Given the description of an element on the screen output the (x, y) to click on. 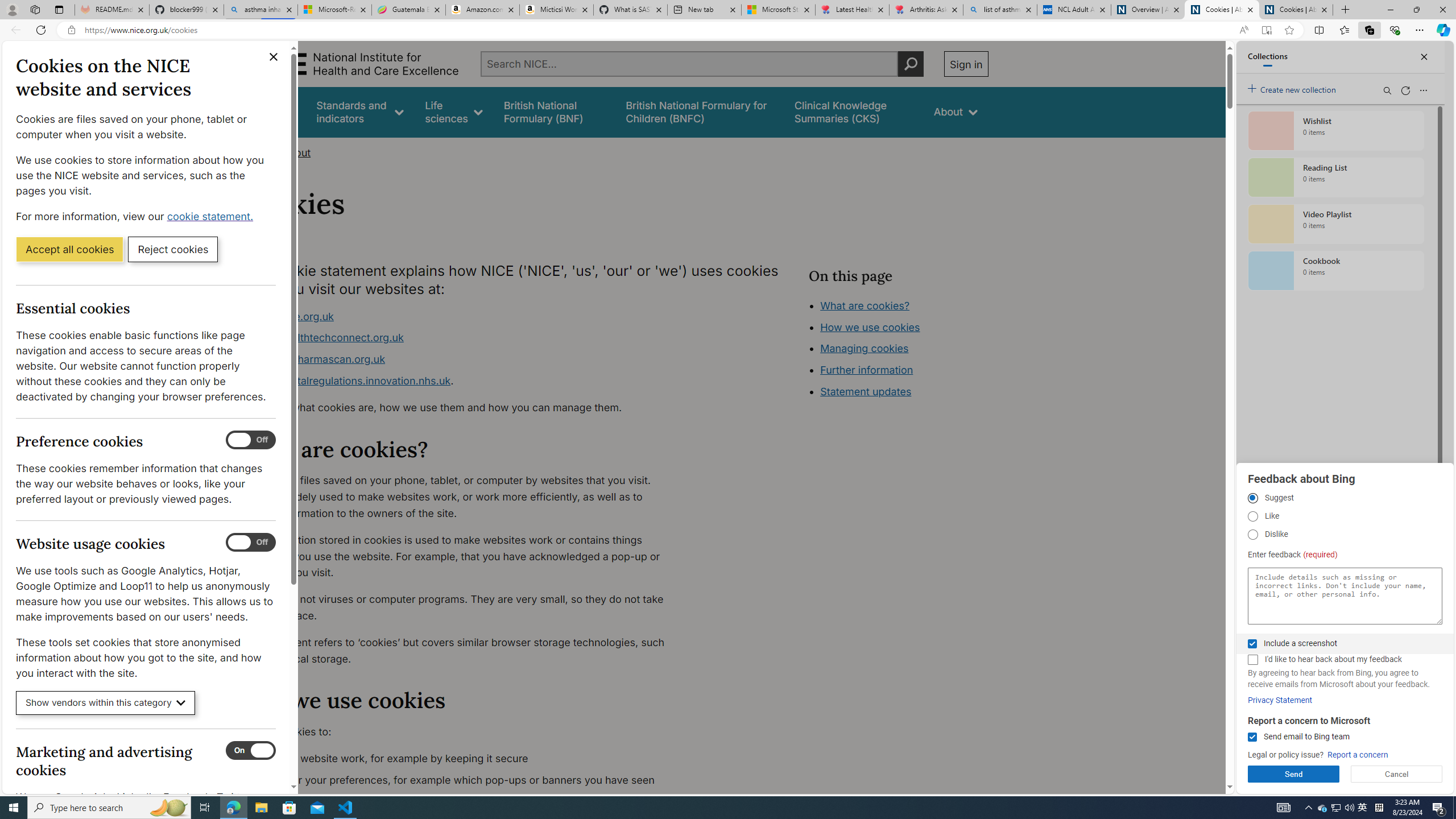
How we use cookies (869, 327)
I'd like to hear back about my feedback (1252, 659)
Include a screenshot (1251, 643)
Website usage cookies (250, 542)
Show vendors within this category (105, 703)
Like (1252, 516)
Managing cookies (863, 348)
false (853, 111)
www.ukpharmascan.org.uk (318, 359)
